Given the description of an element on the screen output the (x, y) to click on. 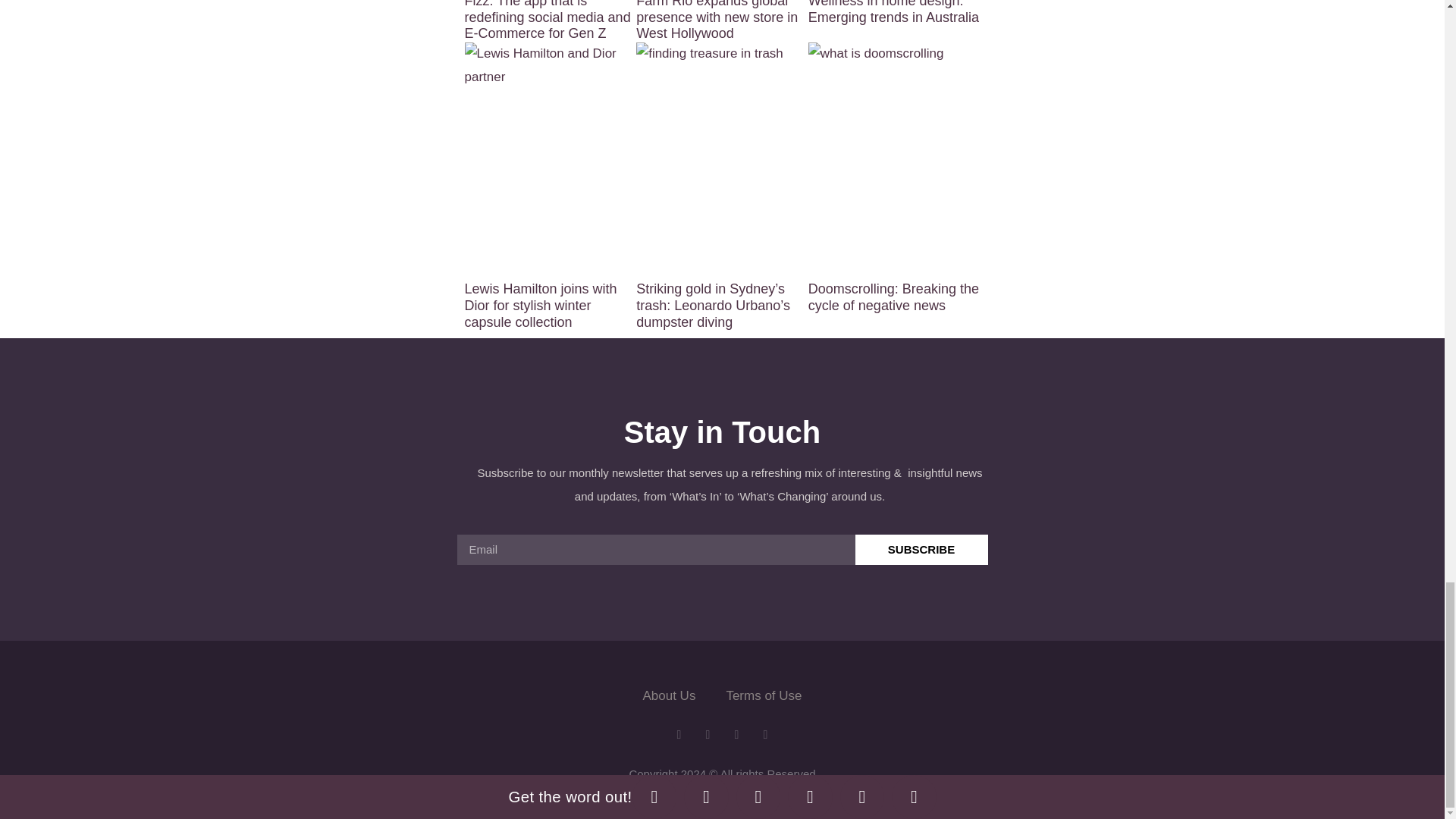
SUBSCRIBE (922, 549)
Doomscrolling: Breaking the cycle of negative news (893, 296)
Wellness in home design: Emerging trends in Australia (893, 12)
About Us (668, 695)
